Given the description of an element on the screen output the (x, y) to click on. 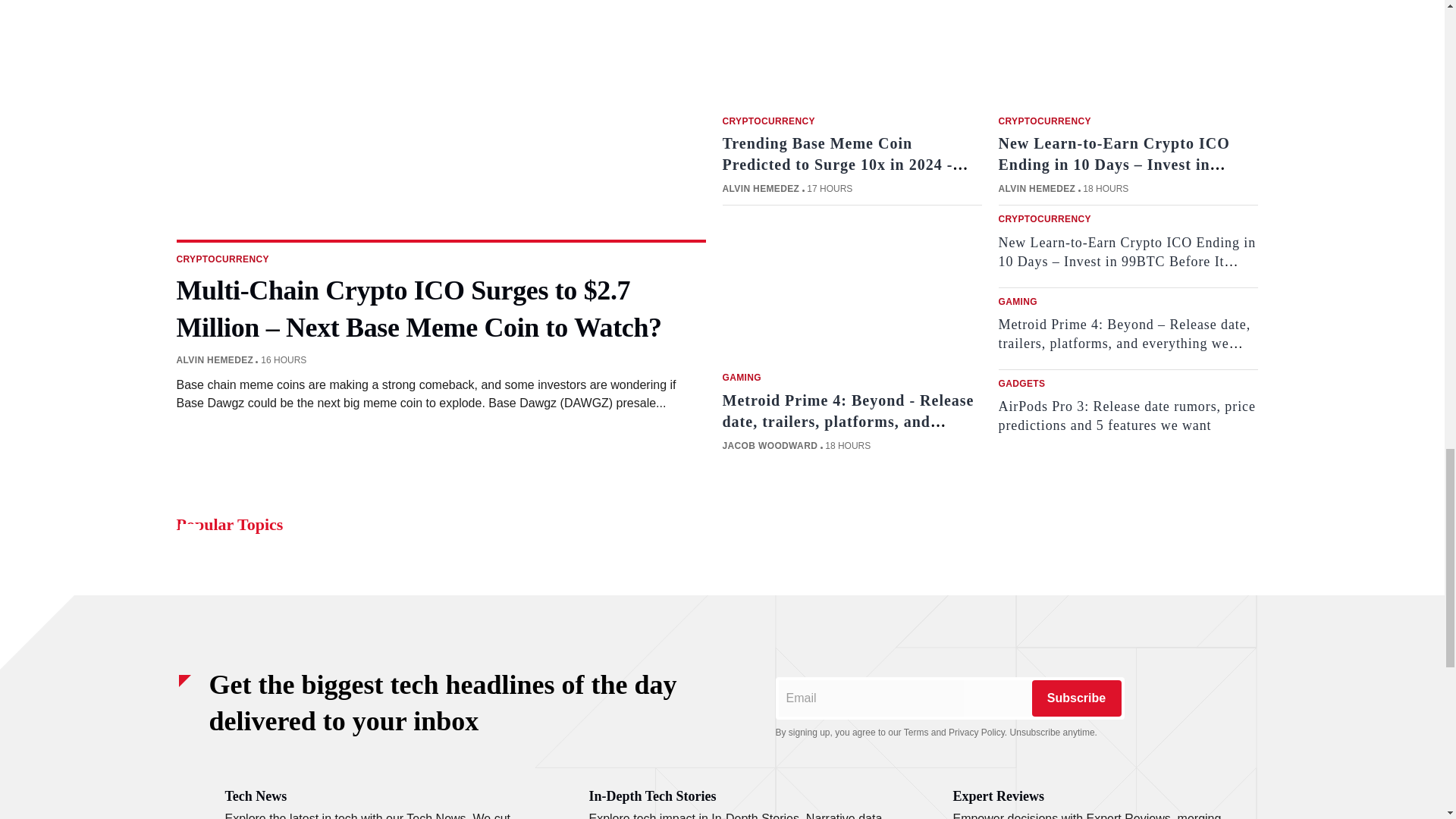
Subscribe (1075, 698)
